Given the description of an element on the screen output the (x, y) to click on. 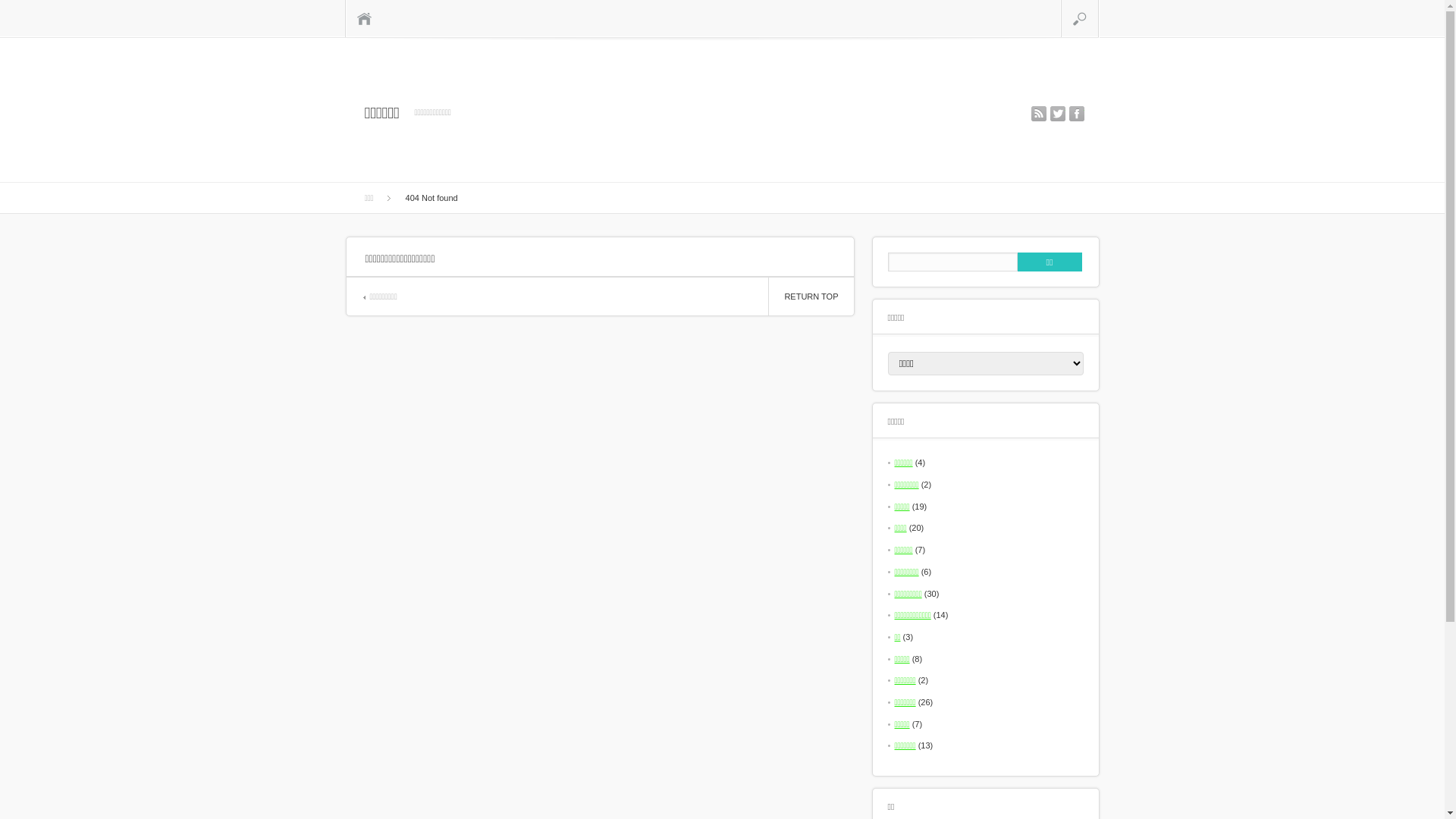
RETURN TOP Element type: text (810, 296)
facebook Element type: text (1076, 113)
rss Element type: text (1038, 113)
twitter Element type: text (1056, 113)
